Given the description of an element on the screen output the (x, y) to click on. 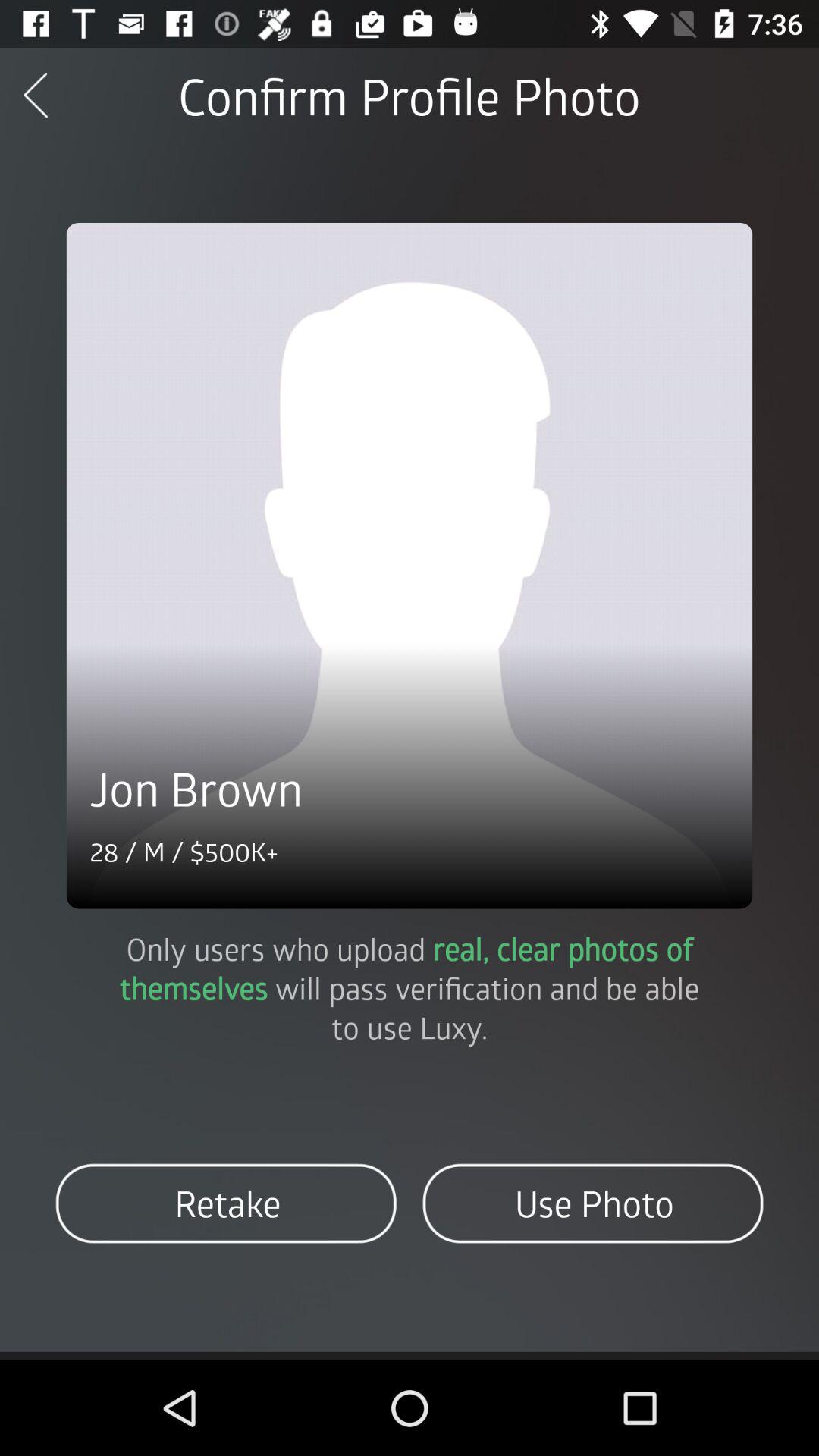
jump until the confirm profile photo item (409, 95)
